Given the description of an element on the screen output the (x, y) to click on. 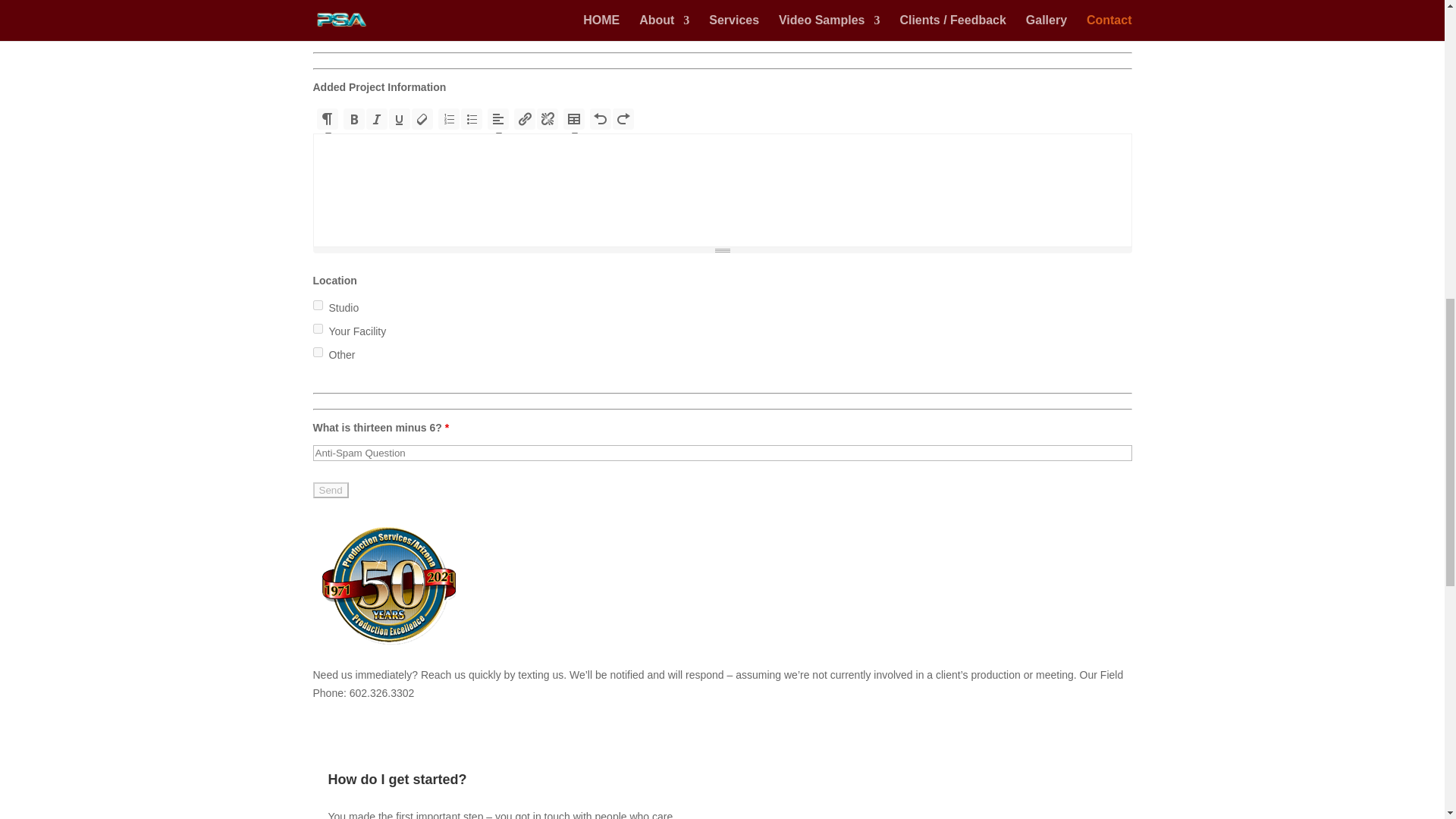
Contact us (388, 645)
your-facility (317, 328)
studio (317, 305)
Send (330, 489)
other (317, 352)
